Given the description of an element on the screen output the (x, y) to click on. 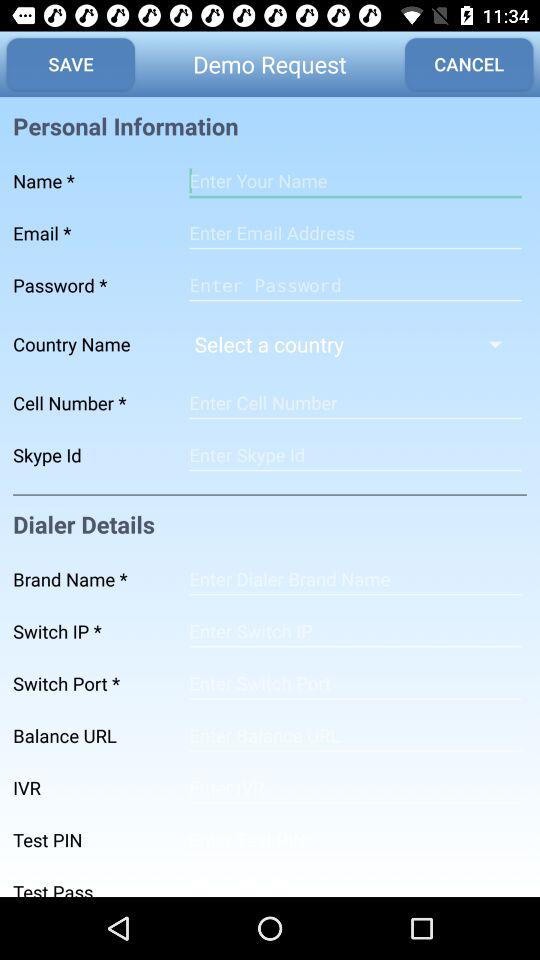
address page (355, 735)
